Given the description of an element on the screen output the (x, y) to click on. 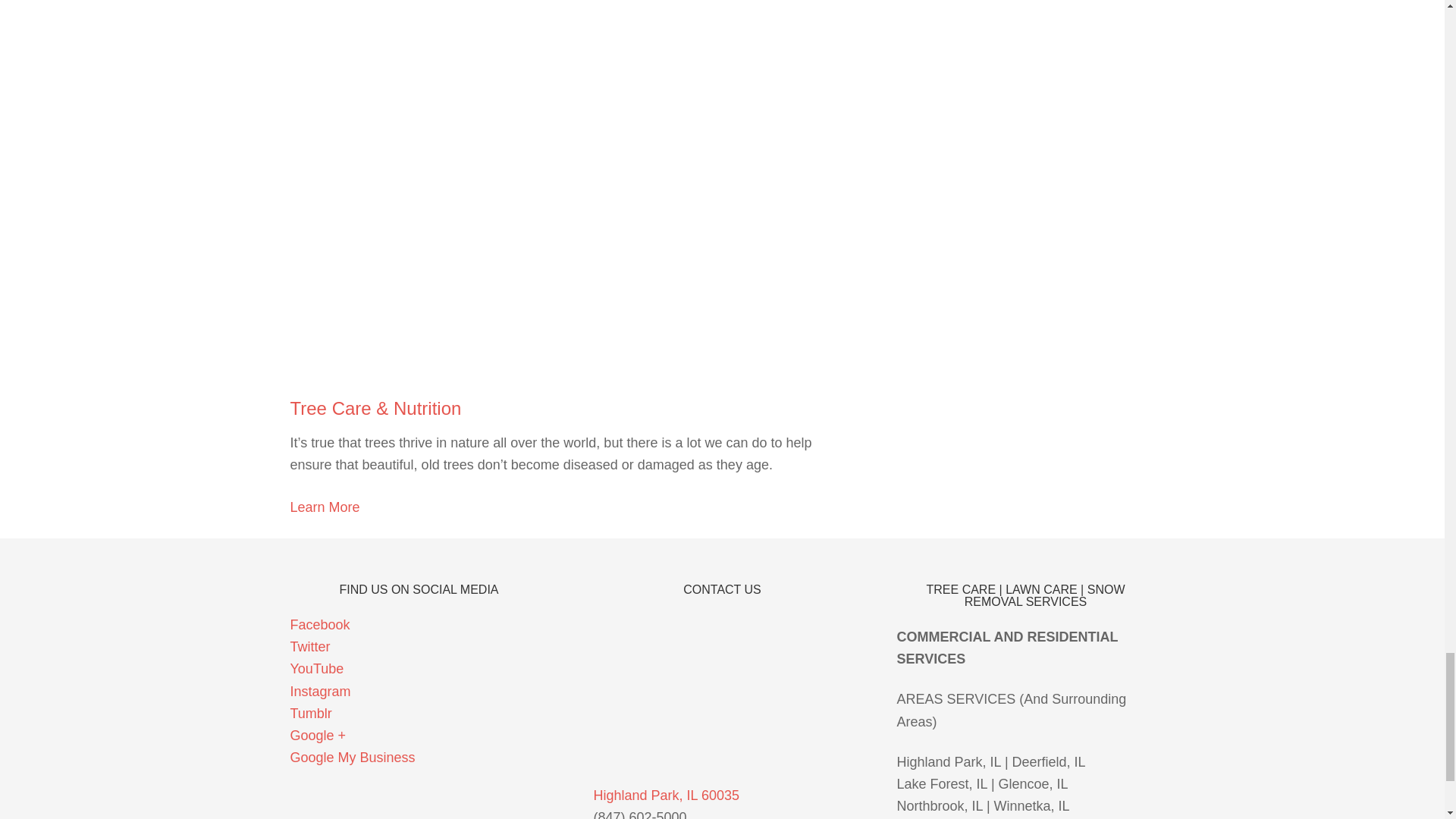
Learn More (324, 507)
Facebook (319, 624)
